Given the description of an element on the screen output the (x, y) to click on. 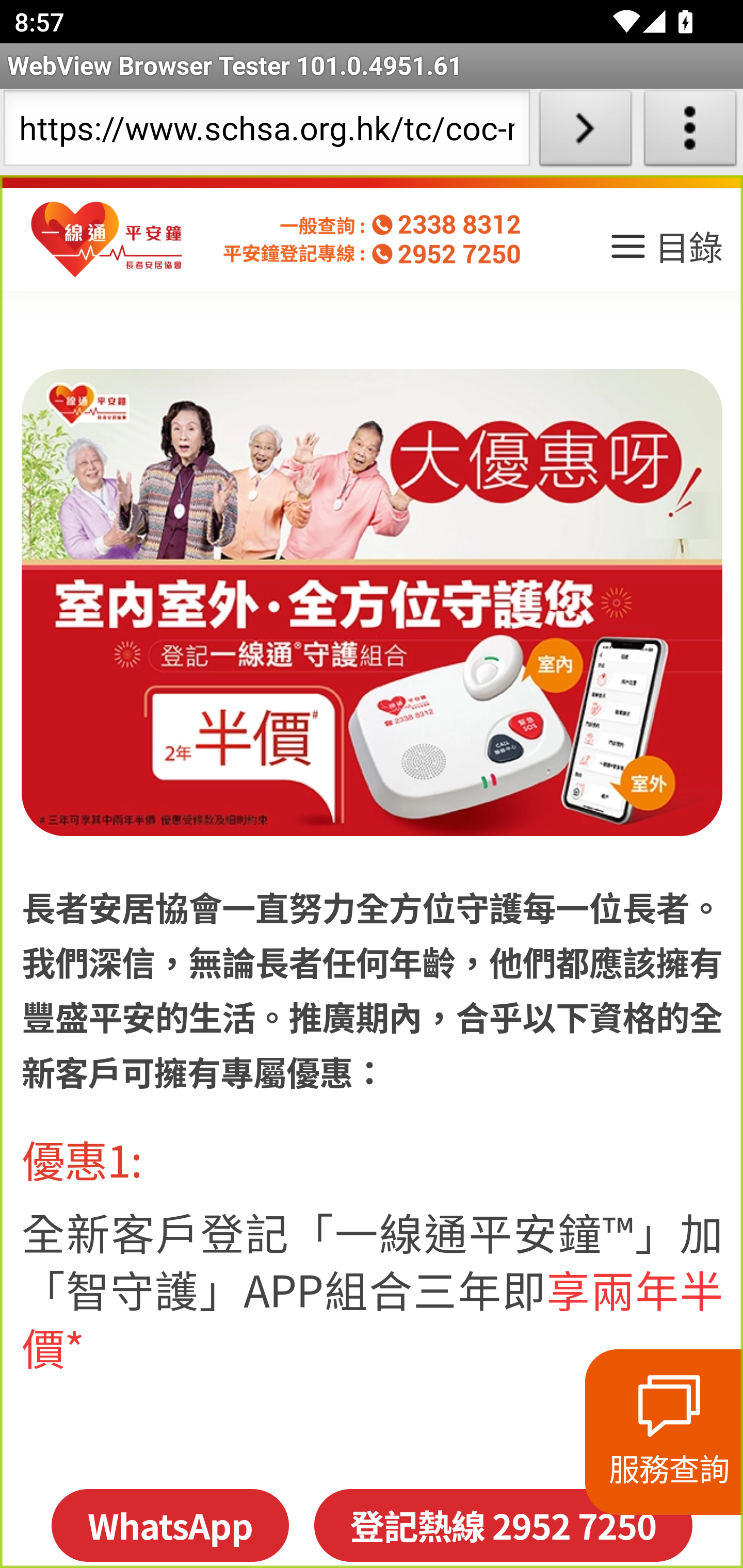
Load URL (585, 132)
About WebView (690, 132)
homepage (107, 240)
目錄 (665, 252)
服務查詢 (664, 1432)
WhatsApp (169, 1525)
登記熱線 2952 7250 (502, 1525)
